Given the description of an element on the screen output the (x, y) to click on. 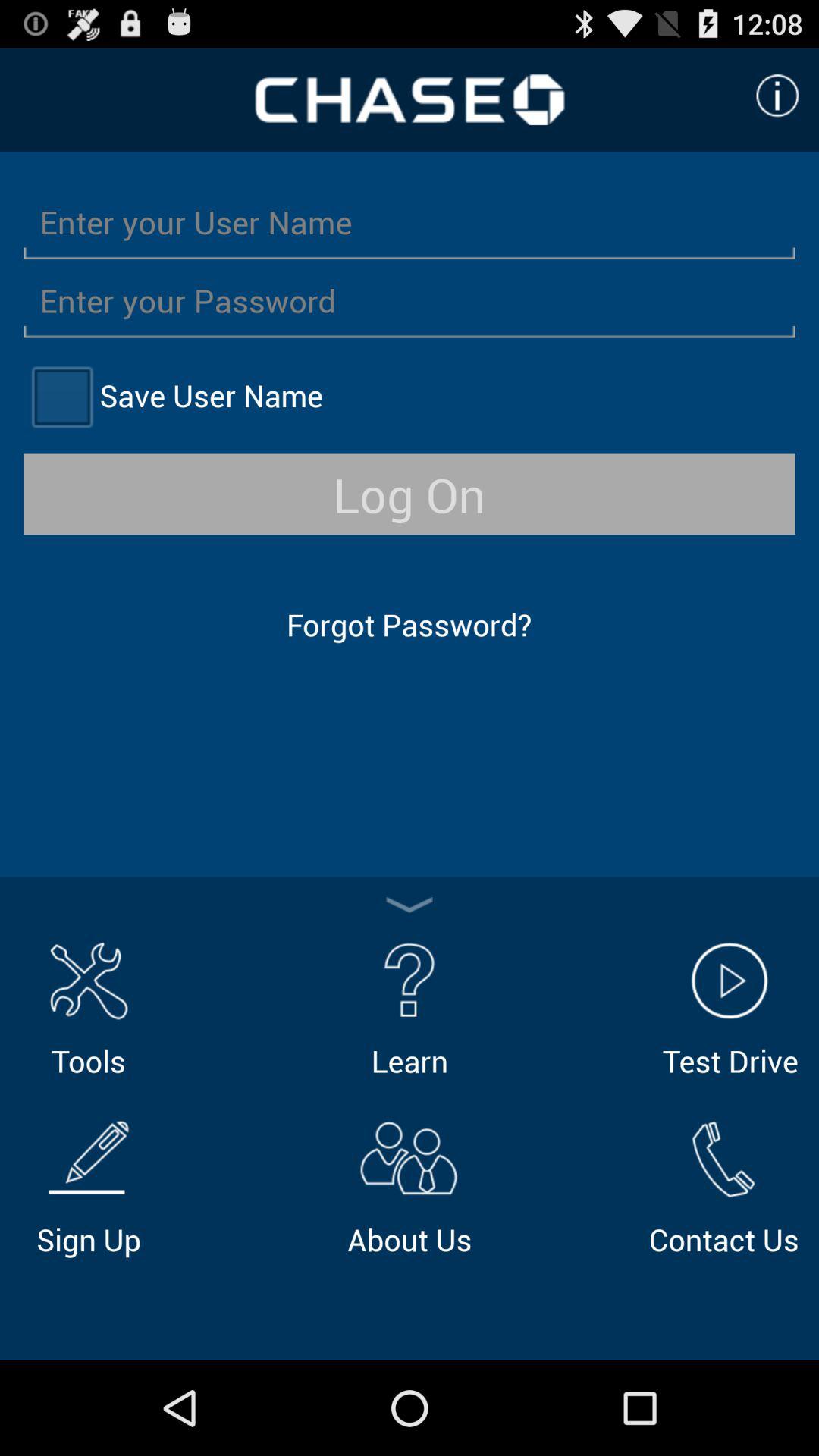
enter username (409, 221)
